Given the description of an element on the screen output the (x, y) to click on. 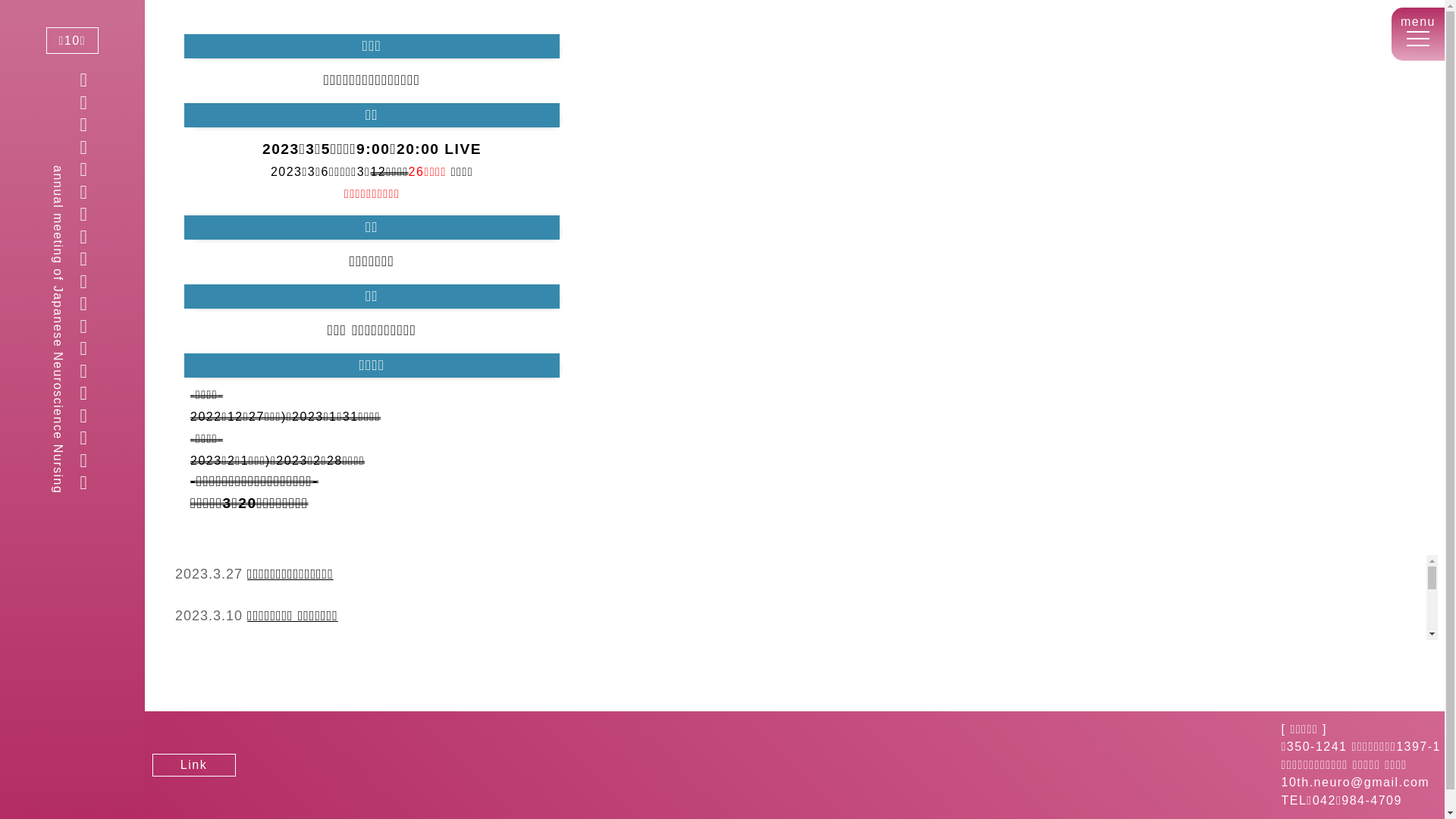
Link Element type: text (193, 764)
